Given the description of an element on the screen output the (x, y) to click on. 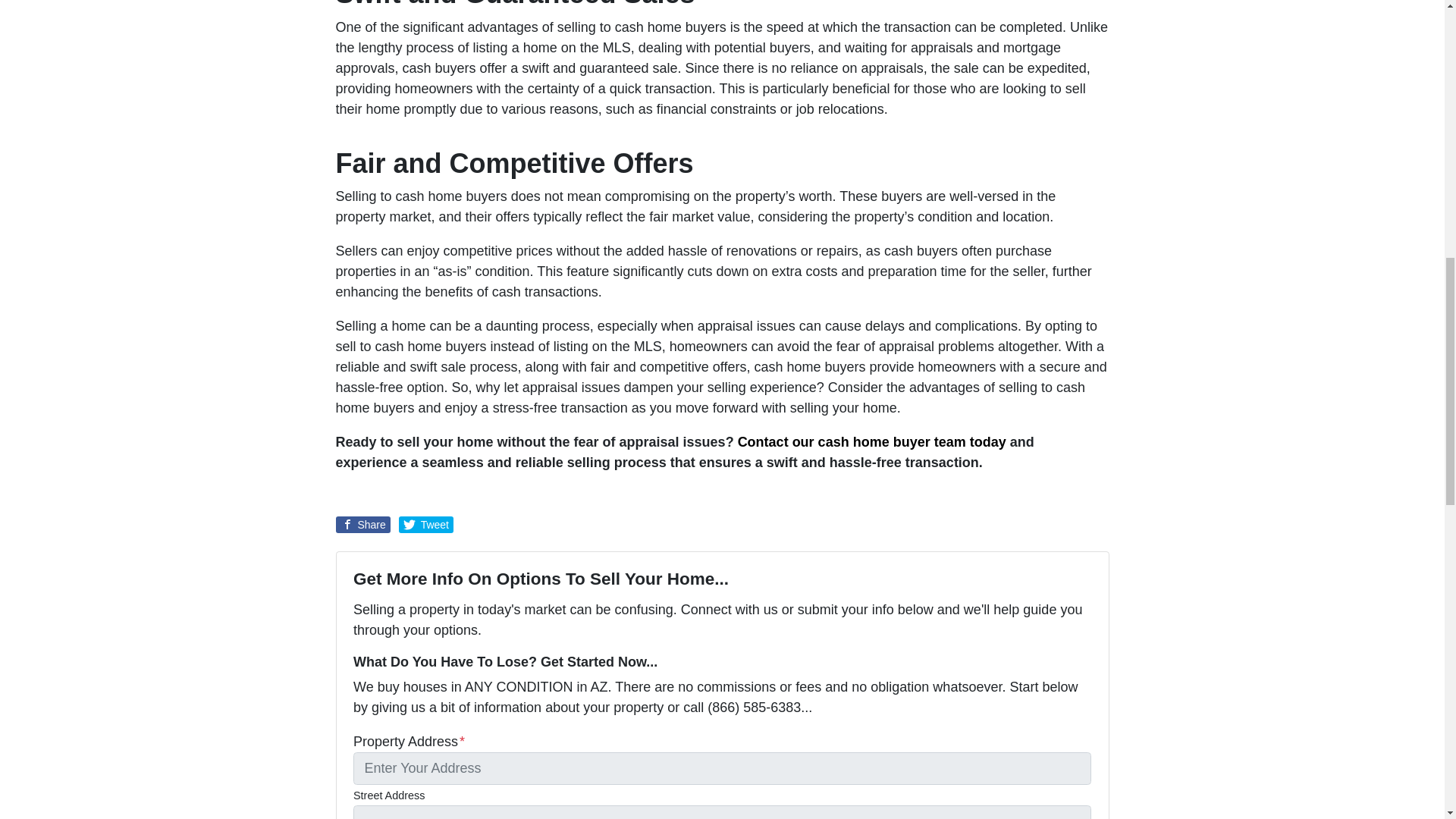
Contact our cash home buyer team today (872, 441)
Tweet (425, 524)
Share (362, 524)
